Given the description of an element on the screen output the (x, y) to click on. 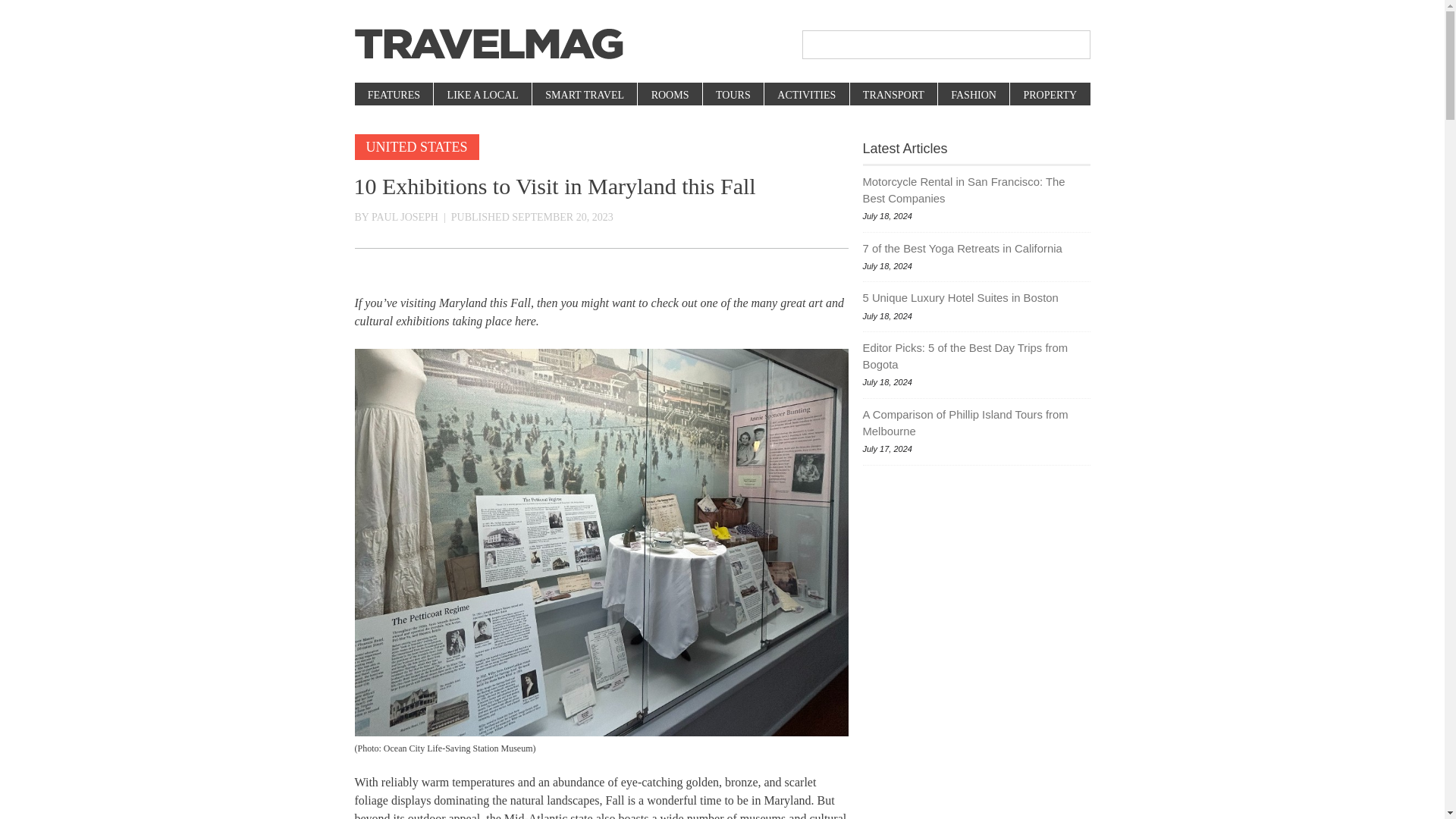
TOURS (731, 95)
TravelMag (489, 43)
FEATURES (394, 95)
TRANSPORT (892, 95)
A Comparison of Phillip Island Tours from Melbourne (976, 423)
ACTIVITIES (805, 95)
LIKE A LOCAL (481, 95)
FASHION (973, 95)
Motorcycle Rental in San Francisco: The Best Companies (976, 190)
PROPERTY (1049, 95)
Editor Picks: 5 of the Best Day Trips from Bogota (976, 356)
5 Unique Luxury Hotel Suites in Boston (976, 297)
7 of the Best Yoga Retreats in California (976, 248)
SMART TRAVEL (584, 95)
ROOMS (669, 95)
